Given the description of an element on the screen output the (x, y) to click on. 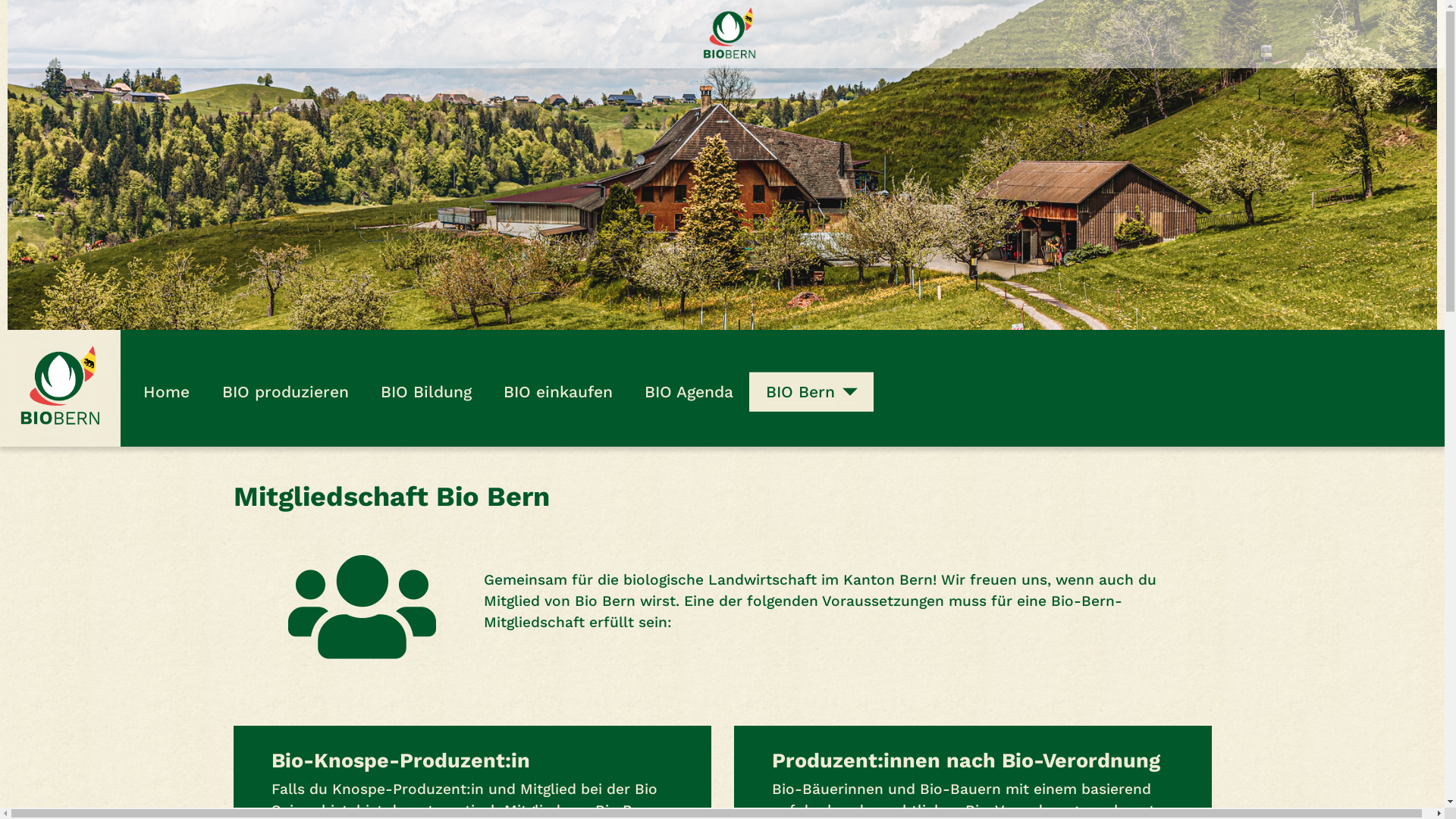
Home Element type: text (166, 391)
BIO Bildung Element type: text (425, 391)
BIO einkaufen Element type: text (557, 391)
BIO Agenda Element type: text (688, 391)
BIO Bern Element type: text (799, 391)
BIO produzieren Element type: text (285, 391)
